Given the description of an element on the screen output the (x, y) to click on. 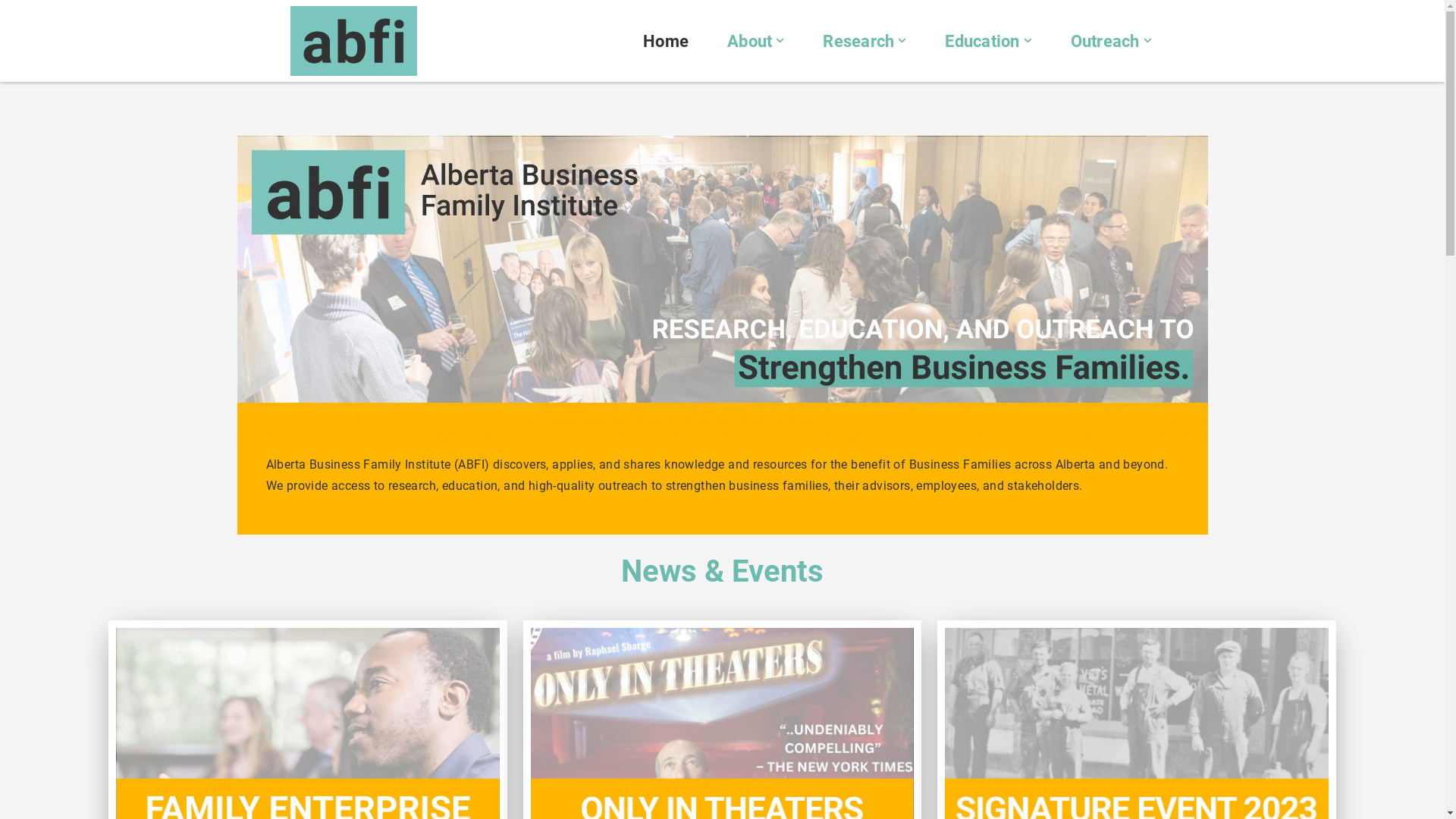
Skip to content Element type: text (11, 31)
About Element type: text (749, 40)
Outreach Element type: text (1104, 40)
ABFI Element type: hover (356, 40)
Education Element type: text (981, 40)
Research Element type: text (858, 40)
Home Element type: text (665, 40)
